Given the description of an element on the screen output the (x, y) to click on. 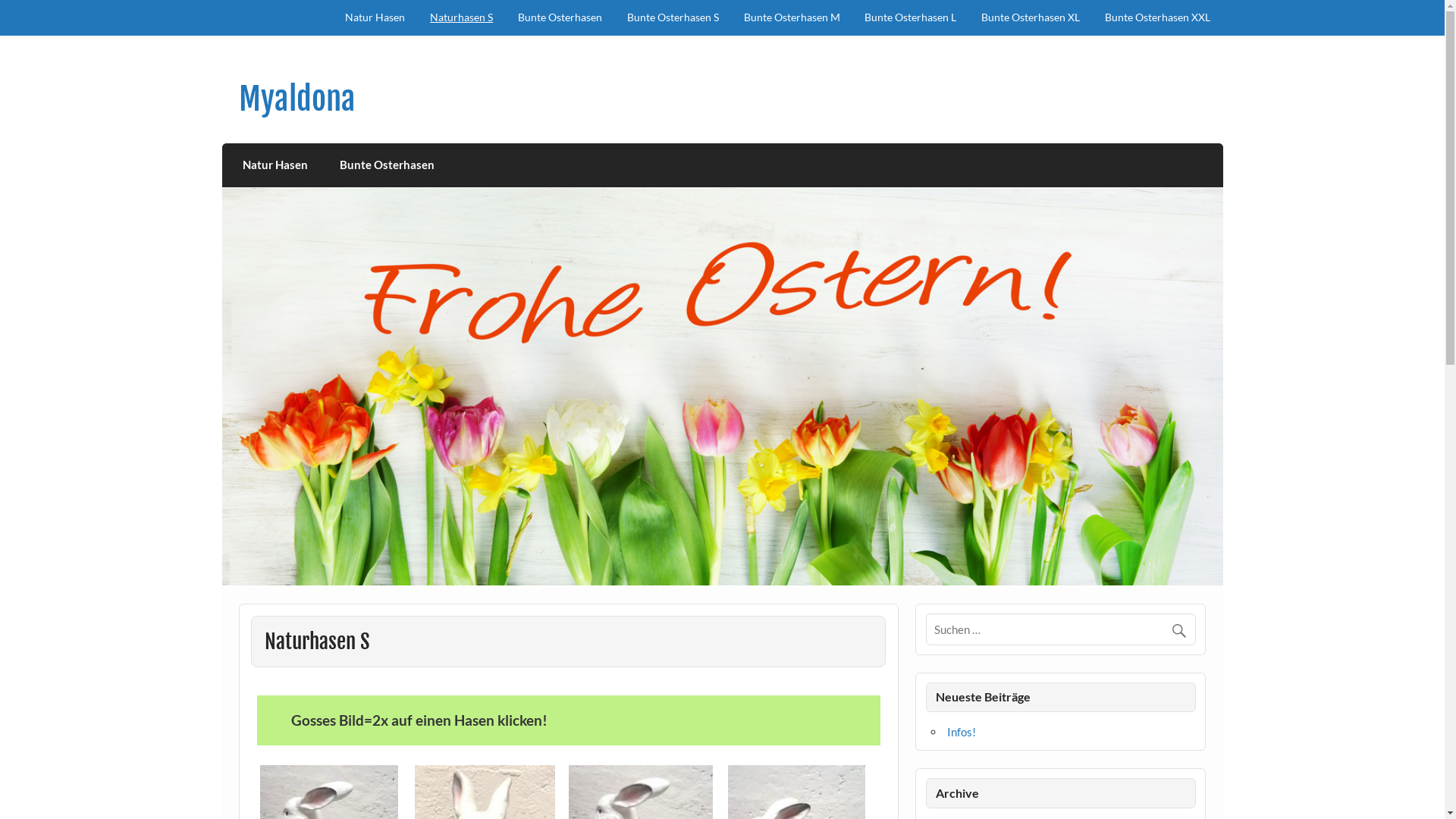
Natur Hasen Element type: text (275, 165)
Infos! Element type: text (961, 731)
Myaldona Element type: text (296, 98)
Bunte Osterhasen M Element type: text (791, 17)
Naturhasen S Element type: text (461, 17)
Natur Hasen Element type: text (374, 17)
Bunte Osterhasen L Element type: text (910, 17)
Bunte Osterhasen Element type: text (387, 165)
Bunte Osterhasen S Element type: text (672, 17)
Bunte Osterhasen XL Element type: text (1030, 17)
Bunte Osterhasen Element type: text (560, 17)
Bunte Osterhasen XXL Element type: text (1157, 17)
